Given the description of an element on the screen output the (x, y) to click on. 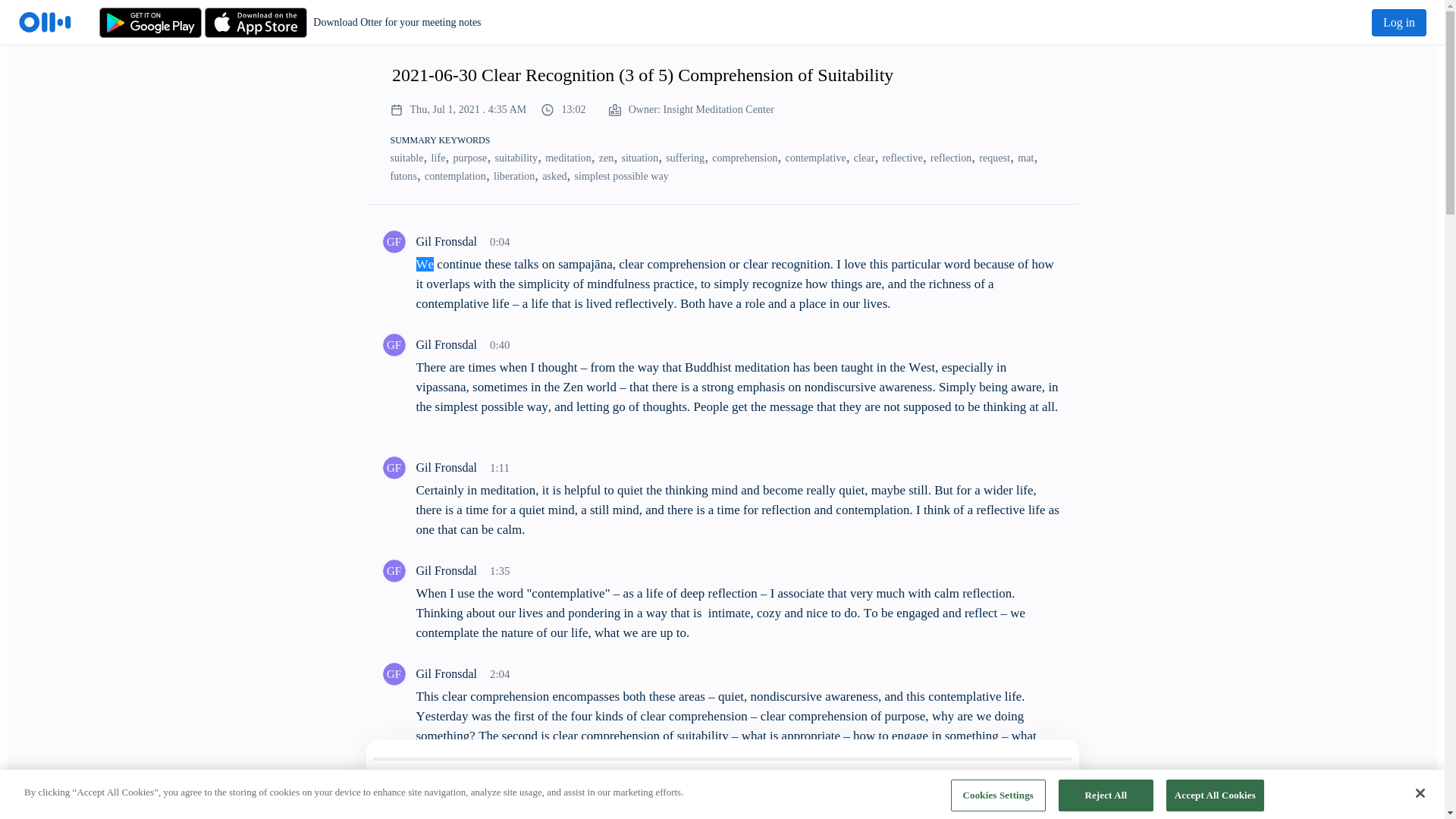
GF (393, 673)
Accept All Cookies (1214, 795)
GF (393, 467)
Gil Fronsdal (392, 241)
Gil Fronsdal (392, 673)
Gil Fronsdal (392, 344)
GF (393, 344)
GF (393, 570)
GF (393, 241)
Log in (1398, 22)
Gil Fronsdal (392, 796)
Gil Fronsdal (392, 570)
GF (393, 796)
Gil Fronsdal (392, 467)
Cookies Settings (997, 795)
